Given the description of an element on the screen output the (x, y) to click on. 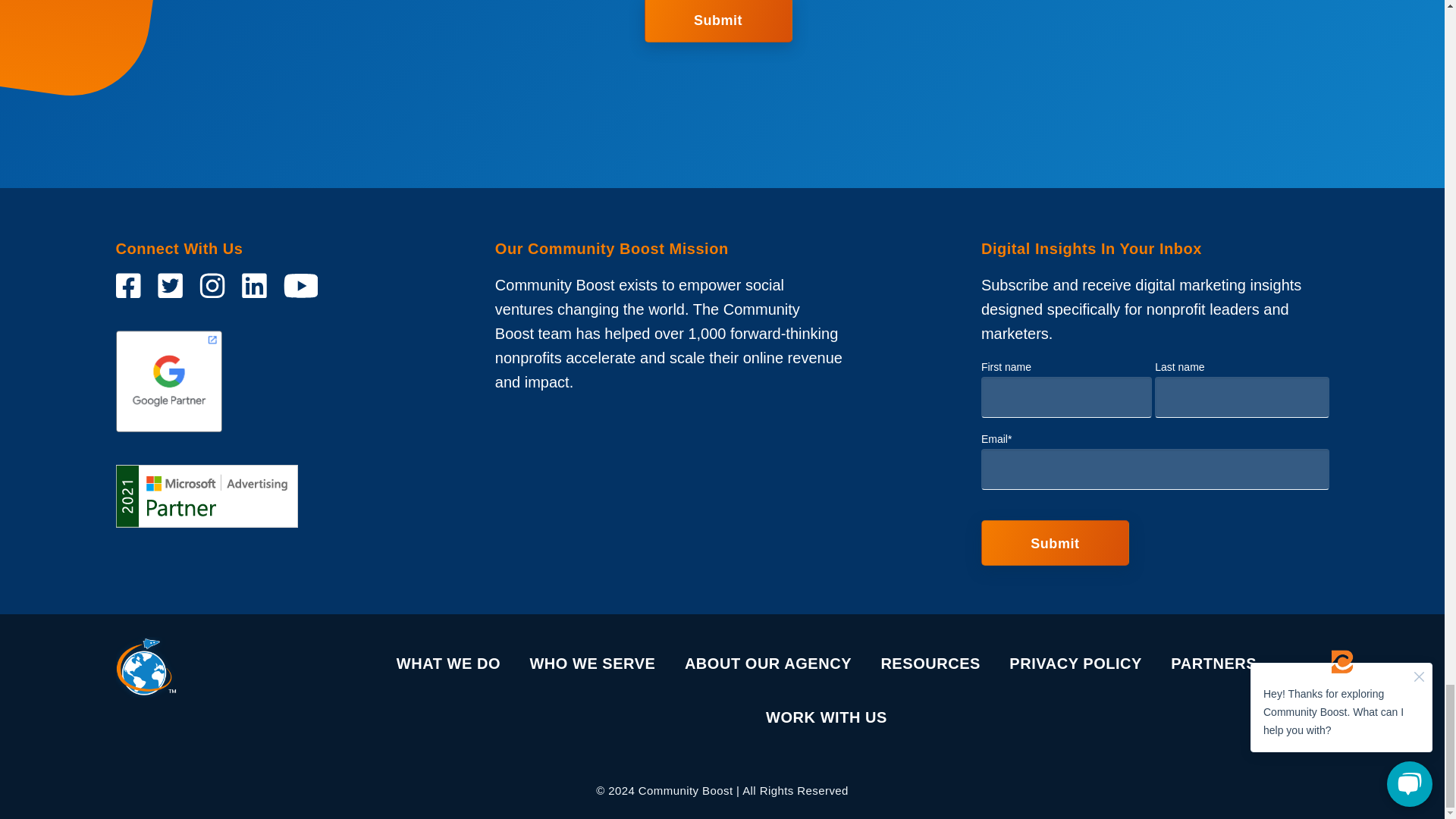
Submit (718, 21)
Submit (1055, 542)
